Given the description of an element on the screen output the (x, y) to click on. 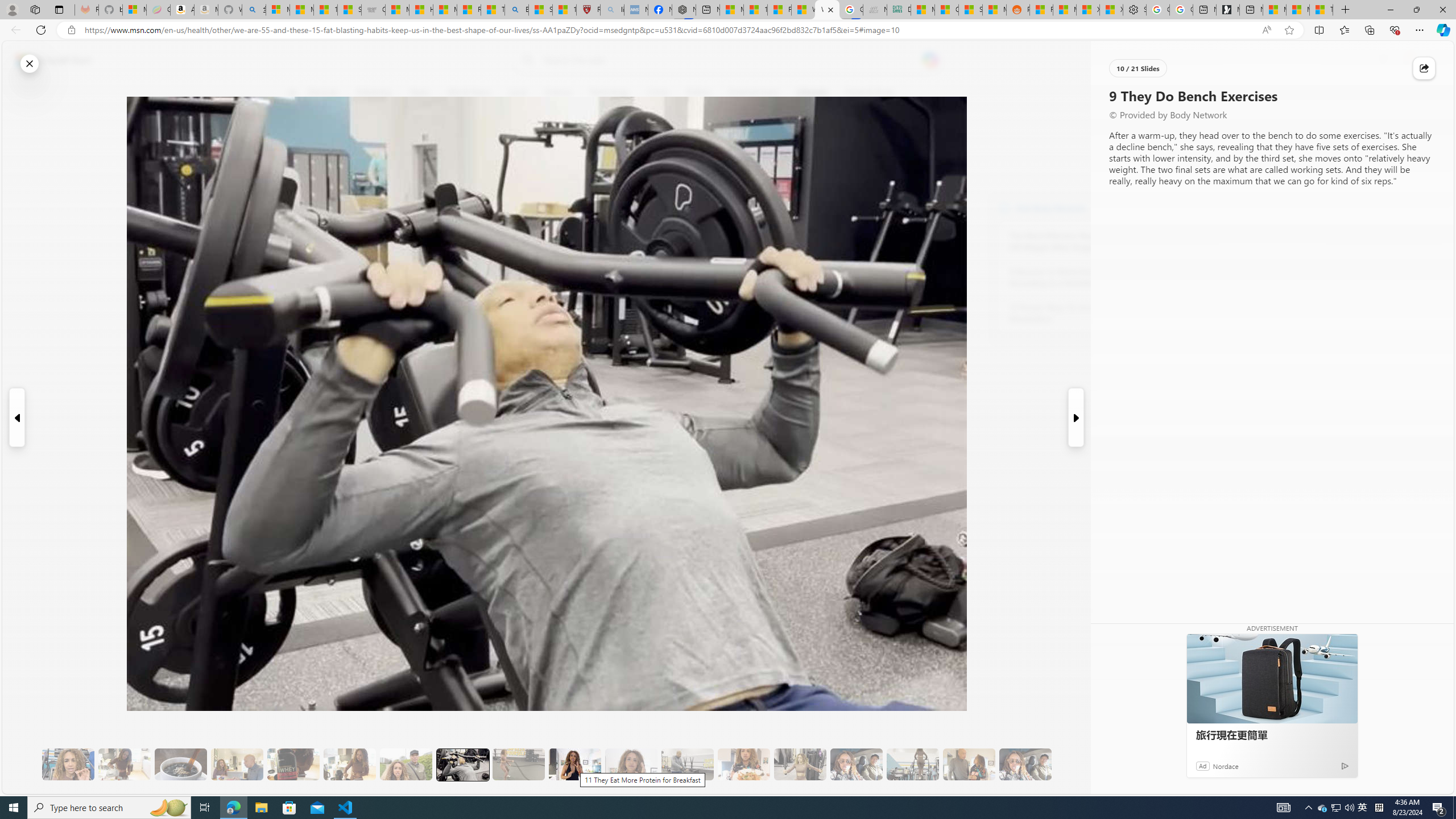
8 They Walk to the Gym (406, 764)
19 It Also Simplifies Thiings (1024, 764)
Bing (515, 9)
